Given the description of an element on the screen output the (x, y) to click on. 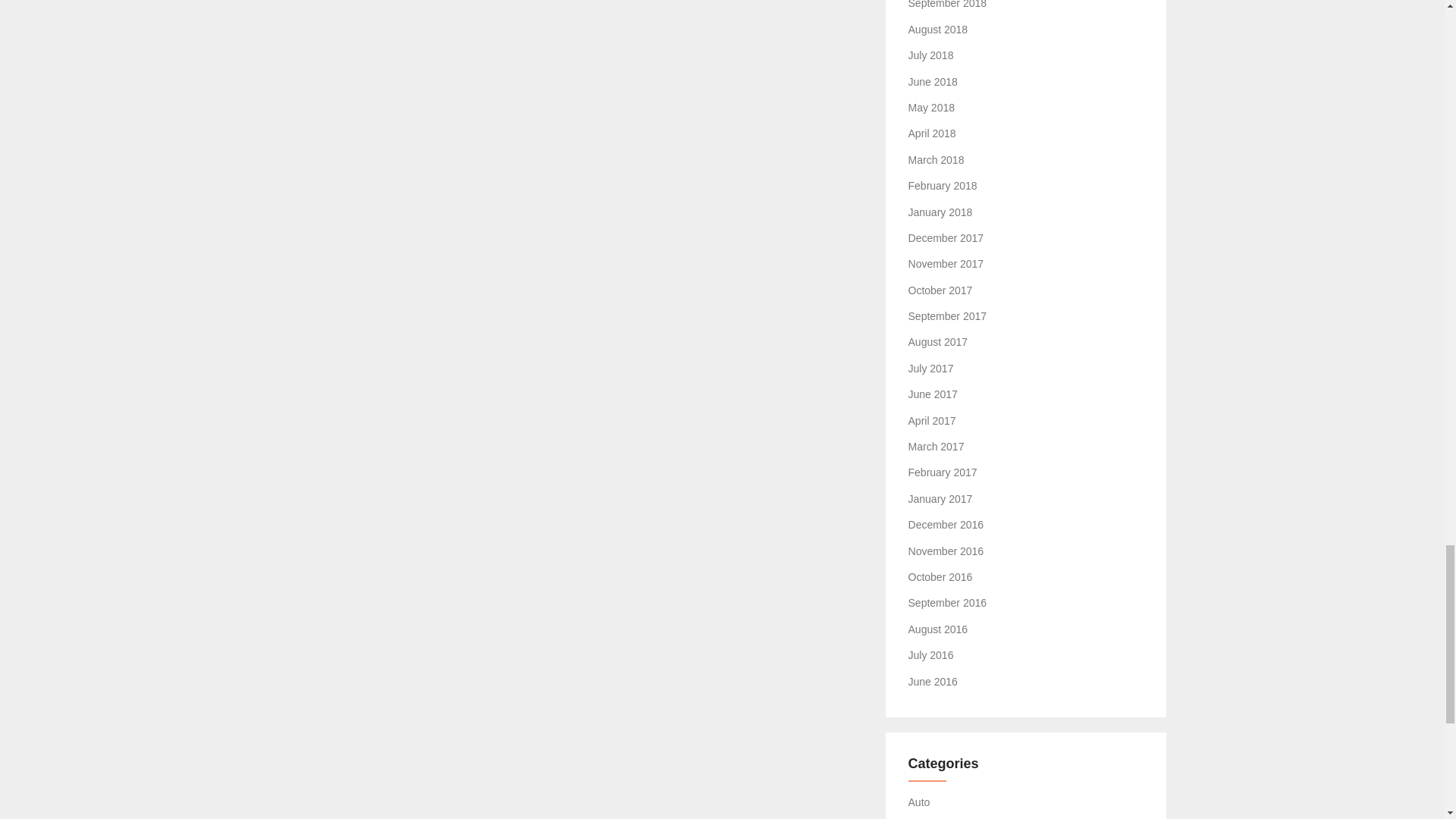
Auto Category (919, 802)
